Given the description of an element on the screen output the (x, y) to click on. 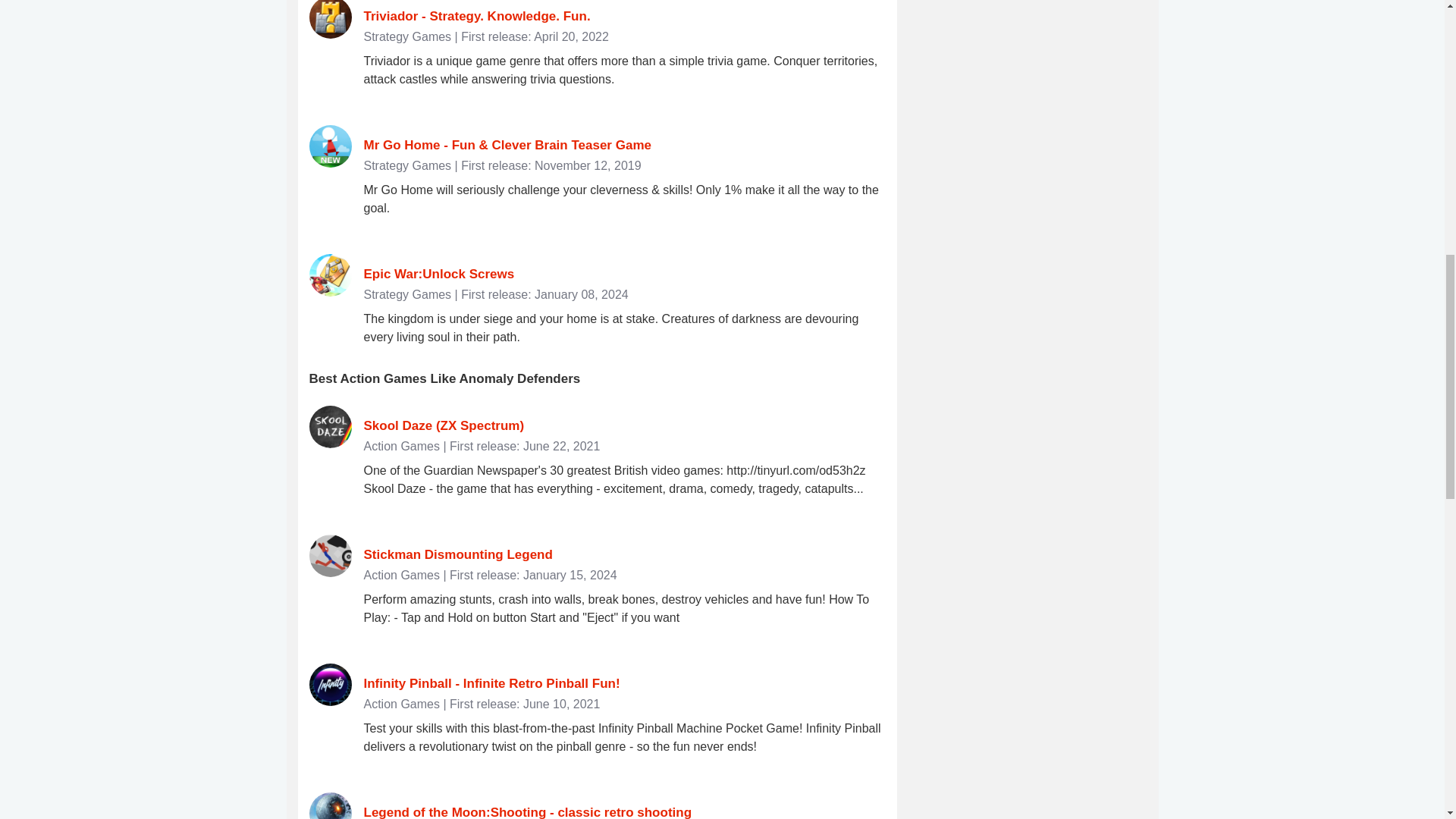
Download Beur FM App (1032, 11)
Stickman Dismounting Legend (458, 554)
Epic War:Unlock Screws (439, 273)
Legend of the Moon:Shooting - classic retro shooting (528, 812)
Beur FM (1032, 11)
